Given the description of an element on the screen output the (x, y) to click on. 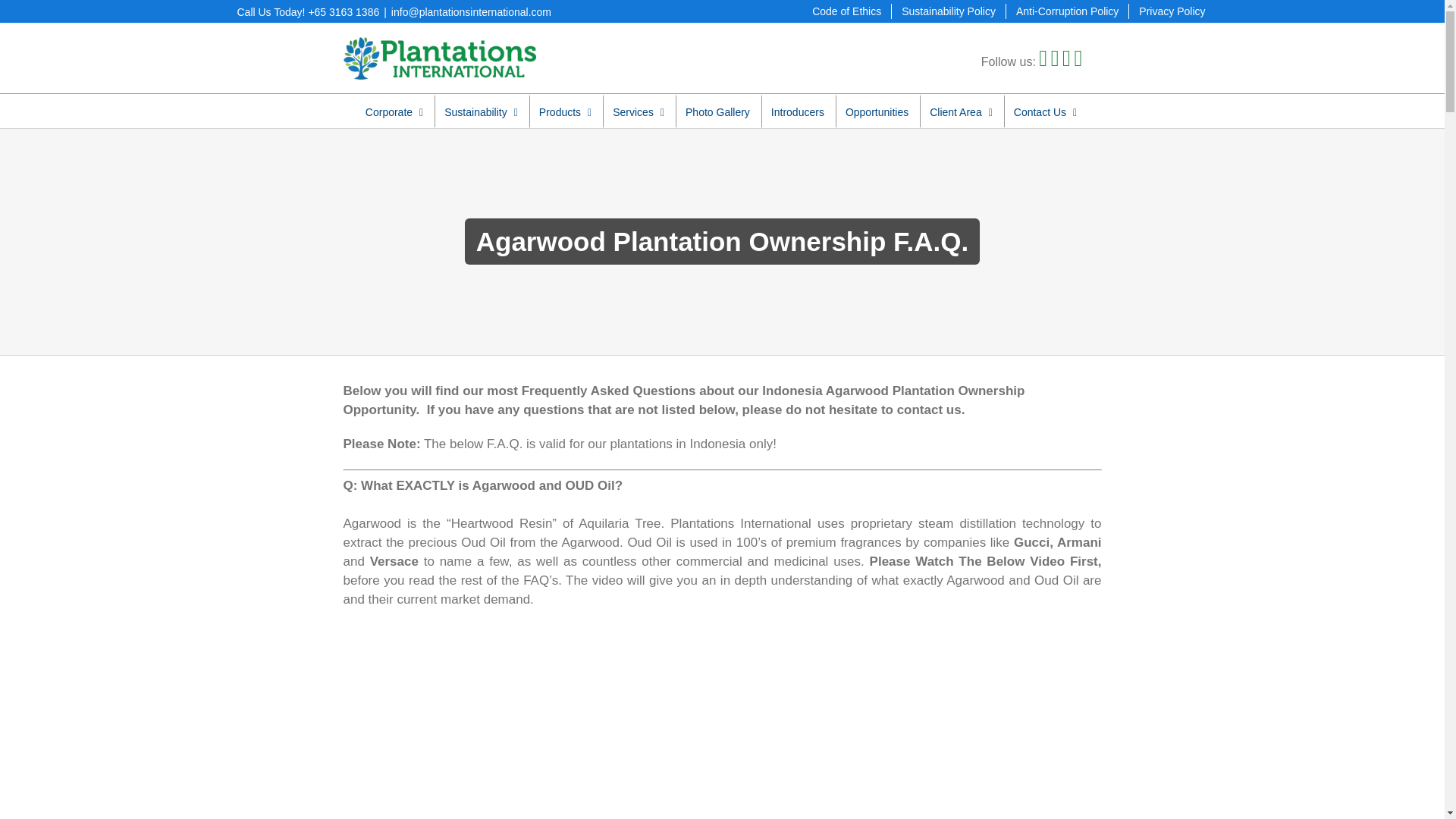
Code of Ethics (846, 11)
Privacy Policy (1171, 11)
Anti-Corruption Policy (1067, 11)
Corporate (394, 110)
Sustainability Policy (948, 11)
